Given the description of an element on the screen output the (x, y) to click on. 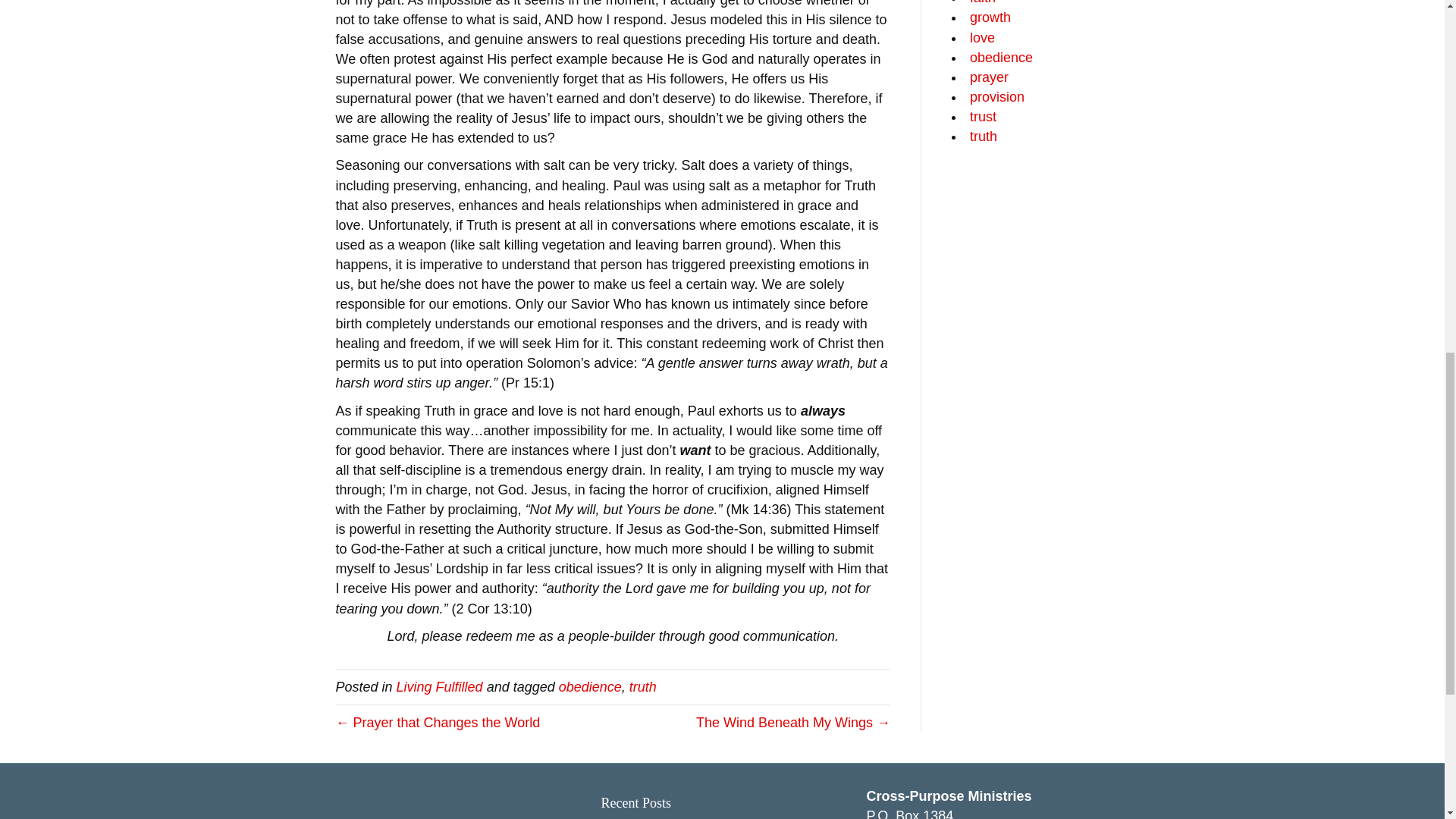
truth (642, 686)
obedience (590, 686)
Living Fulfilled (439, 686)
